Given the description of an element on the screen output the (x, y) to click on. 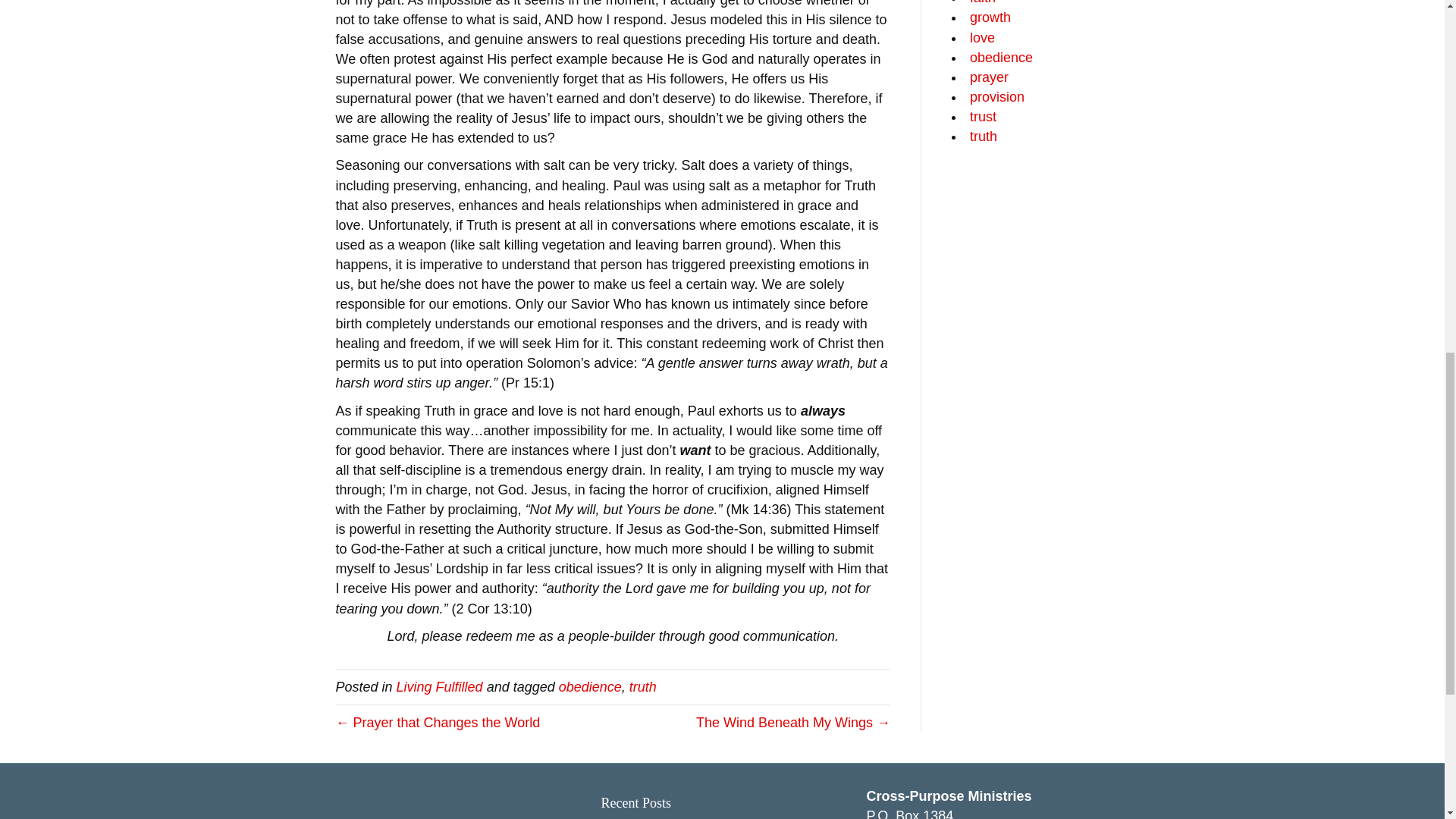
truth (642, 686)
obedience (590, 686)
Living Fulfilled (439, 686)
